Given the description of an element on the screen output the (x, y) to click on. 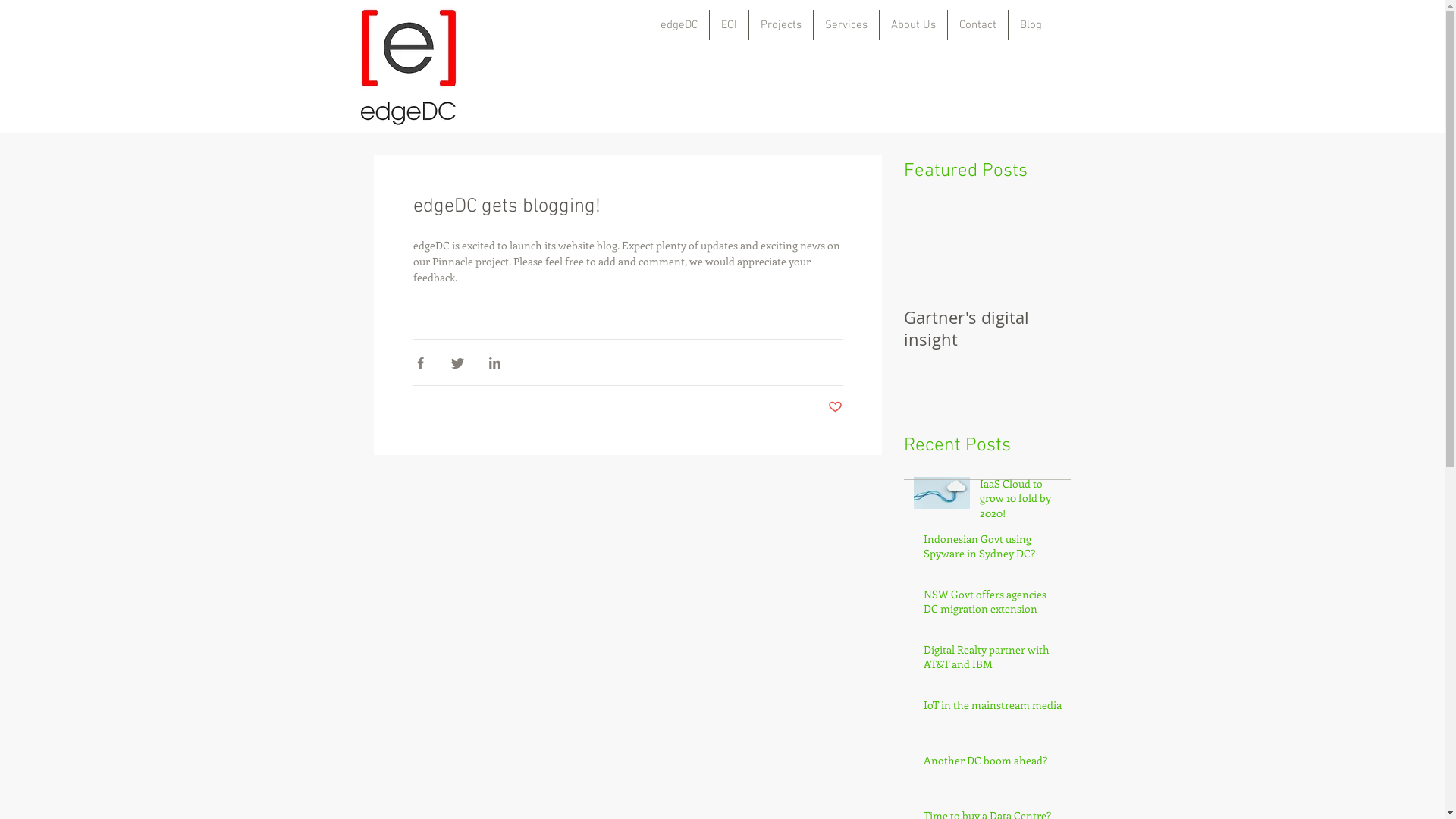
Digital Realty partner with AT&T and IBM Element type: text (992, 659)
edgeDC Element type: text (679, 24)
About Us Element type: text (913, 24)
IoT in the mainstream media Element type: text (992, 707)
Contact Element type: text (977, 24)
Indonesian Govt using Spyware in Sydney DC? Element type: text (992, 549)
Projects Element type: text (780, 24)
Services Element type: text (845, 24)
Another DC boom ahead? Element type: text (992, 763)
IaaS Cloud to grow 10 fold by 2020! Element type: text (1020, 501)
Gartner's digital insight Element type: text (986, 328)
EDC Small.jpg Element type: hover (406, 68)
NSW Govt offers agencies DC migration extension Element type: text (992, 604)
Blog Element type: text (1030, 24)
EOI Element type: text (728, 24)
Post not marked as liked Element type: text (835, 407)
